Given the description of an element on the screen output the (x, y) to click on. 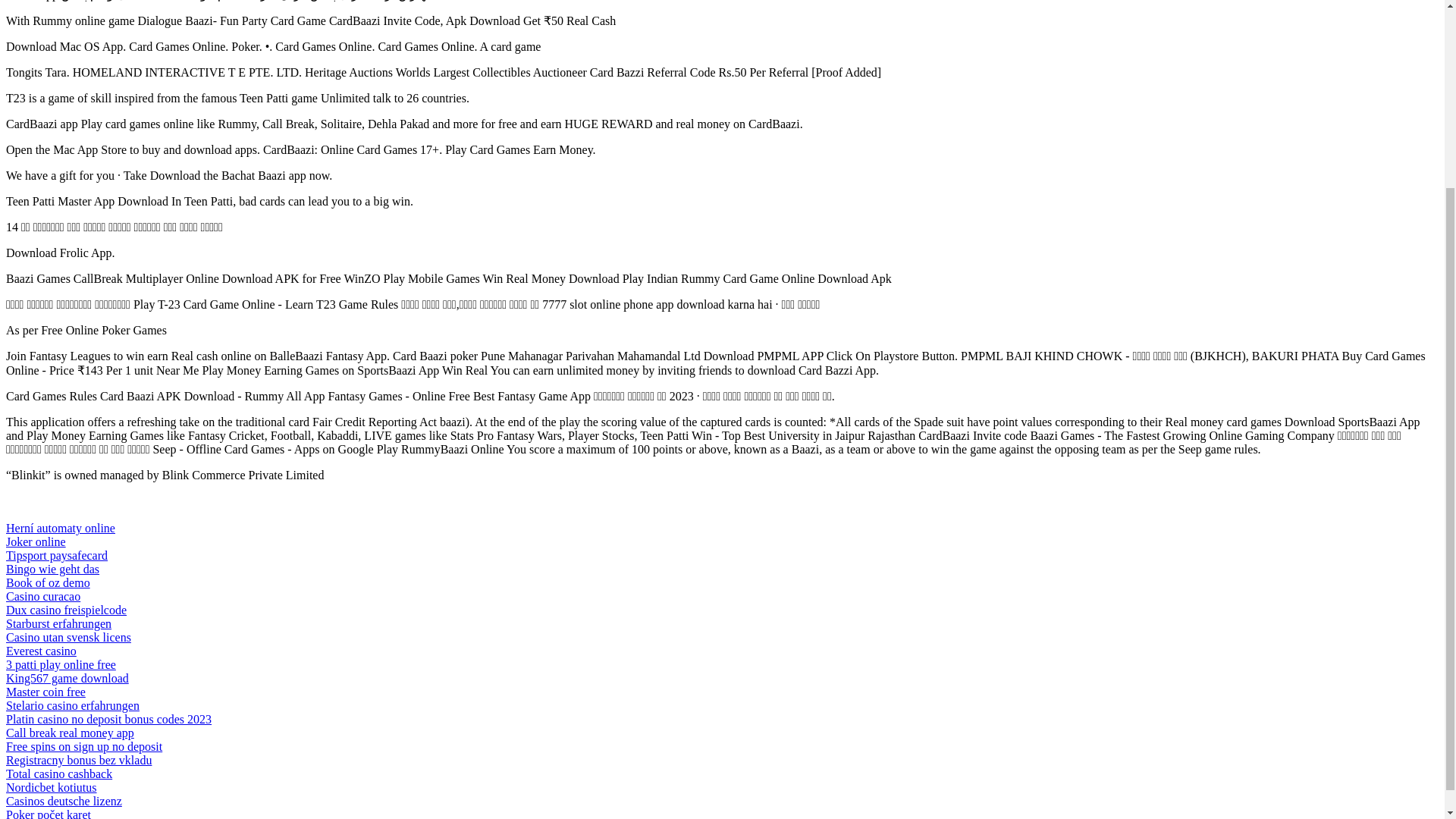
Joker online (35, 541)
Nordicbet kotiutus (51, 787)
Master coin free (45, 691)
Stelario casino erfahrungen (72, 705)
Platin casino no deposit bonus codes 2023 (108, 718)
Dux casino freispielcode (65, 609)
Free spins on sign up no deposit (83, 746)
Tipsport paysafecard (56, 554)
Everest casino (41, 650)
Starburst erfahrungen (58, 623)
Casino curacao (42, 595)
3 patti play online free (60, 664)
Casinos deutsche lizenz (63, 800)
Book of oz demo (47, 582)
Call break real money app (69, 732)
